Given the description of an element on the screen output the (x, y) to click on. 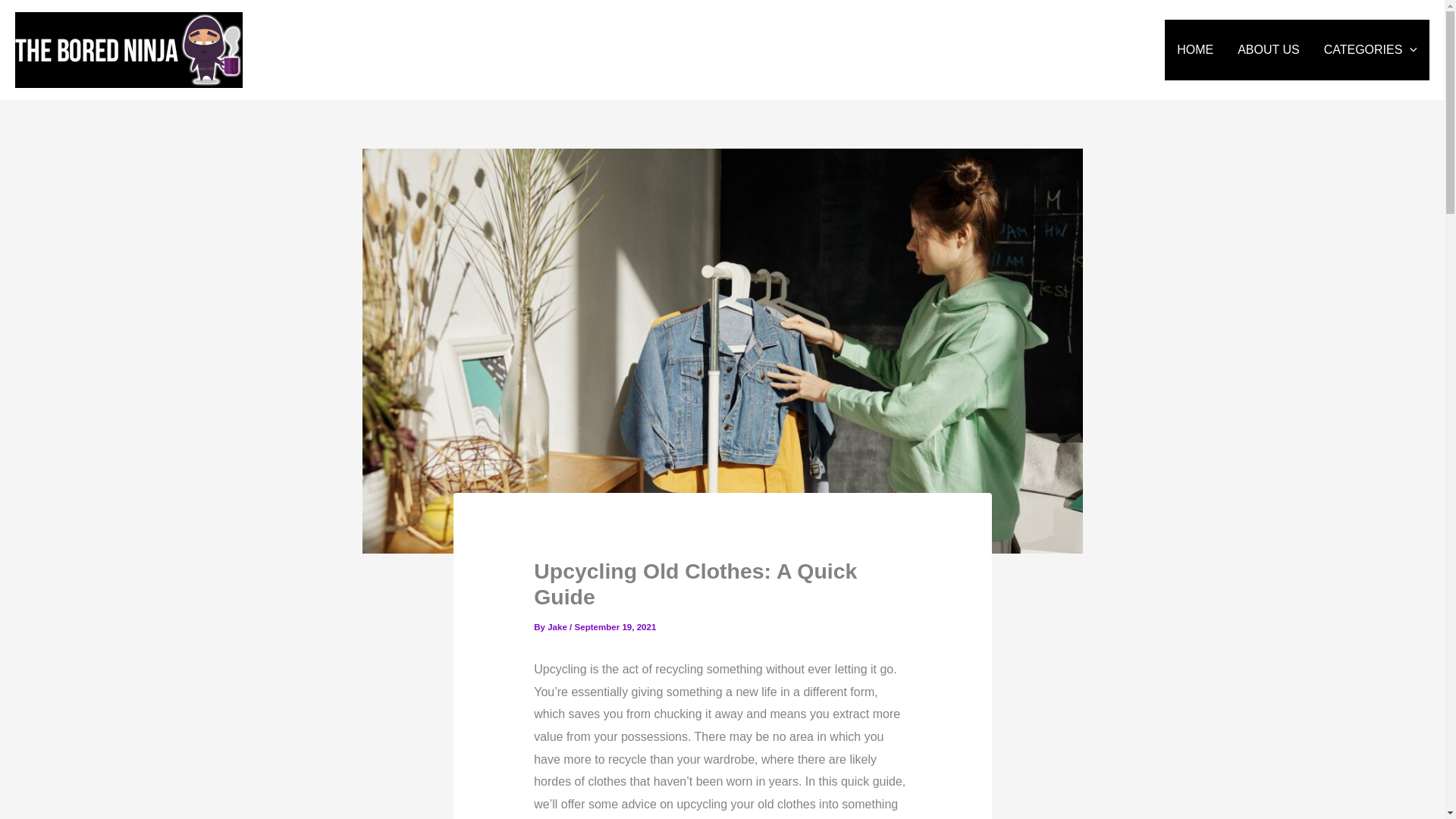
View all posts by Jake (558, 626)
ABOUT US (1268, 49)
HOME (1194, 49)
CATEGORIES (1370, 49)
